Given the description of an element on the screen output the (x, y) to click on. 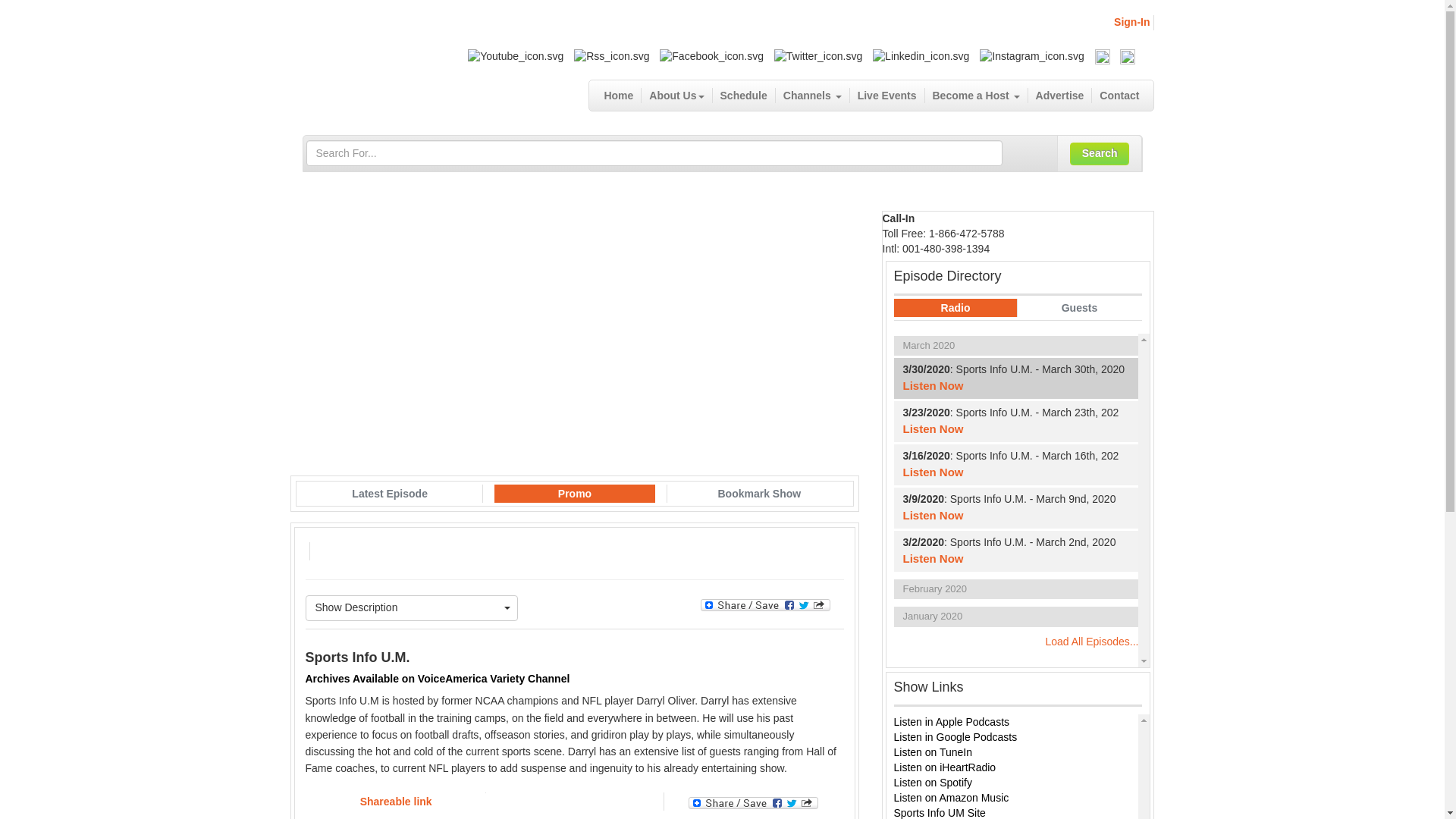
Live Events (887, 95)
Promo (575, 493)
About Us (676, 95)
Become a Host (975, 95)
Home (618, 95)
Show Description (411, 607)
Advertise (1060, 95)
Bookmark Show (759, 493)
null (355, 56)
Sign-In (1131, 21)
